Given the description of an element on the screen output the (x, y) to click on. 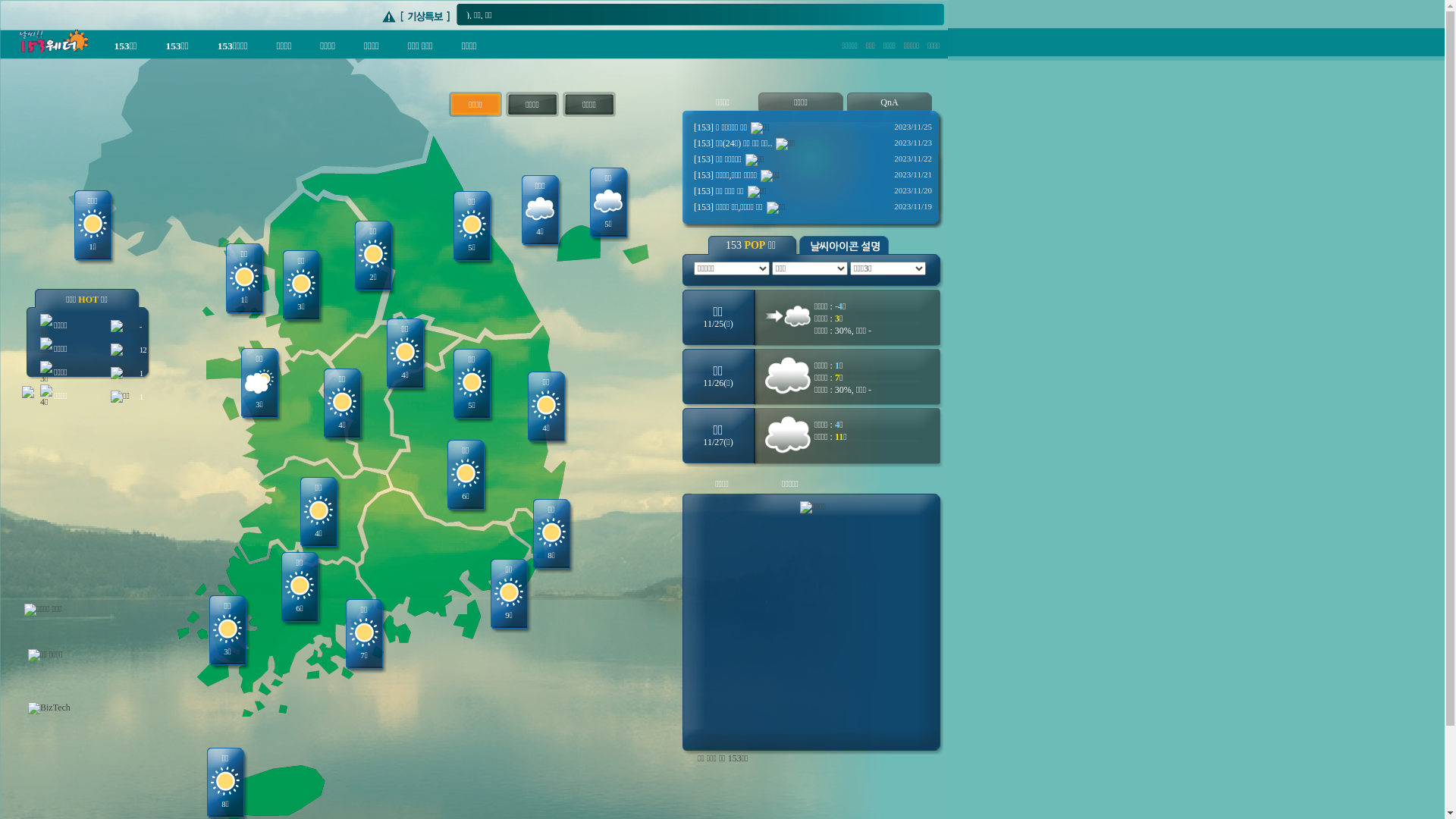
  Element type: text (15, 46)
QnA Element type: text (888, 102)
